Given the description of an element on the screen output the (x, y) to click on. 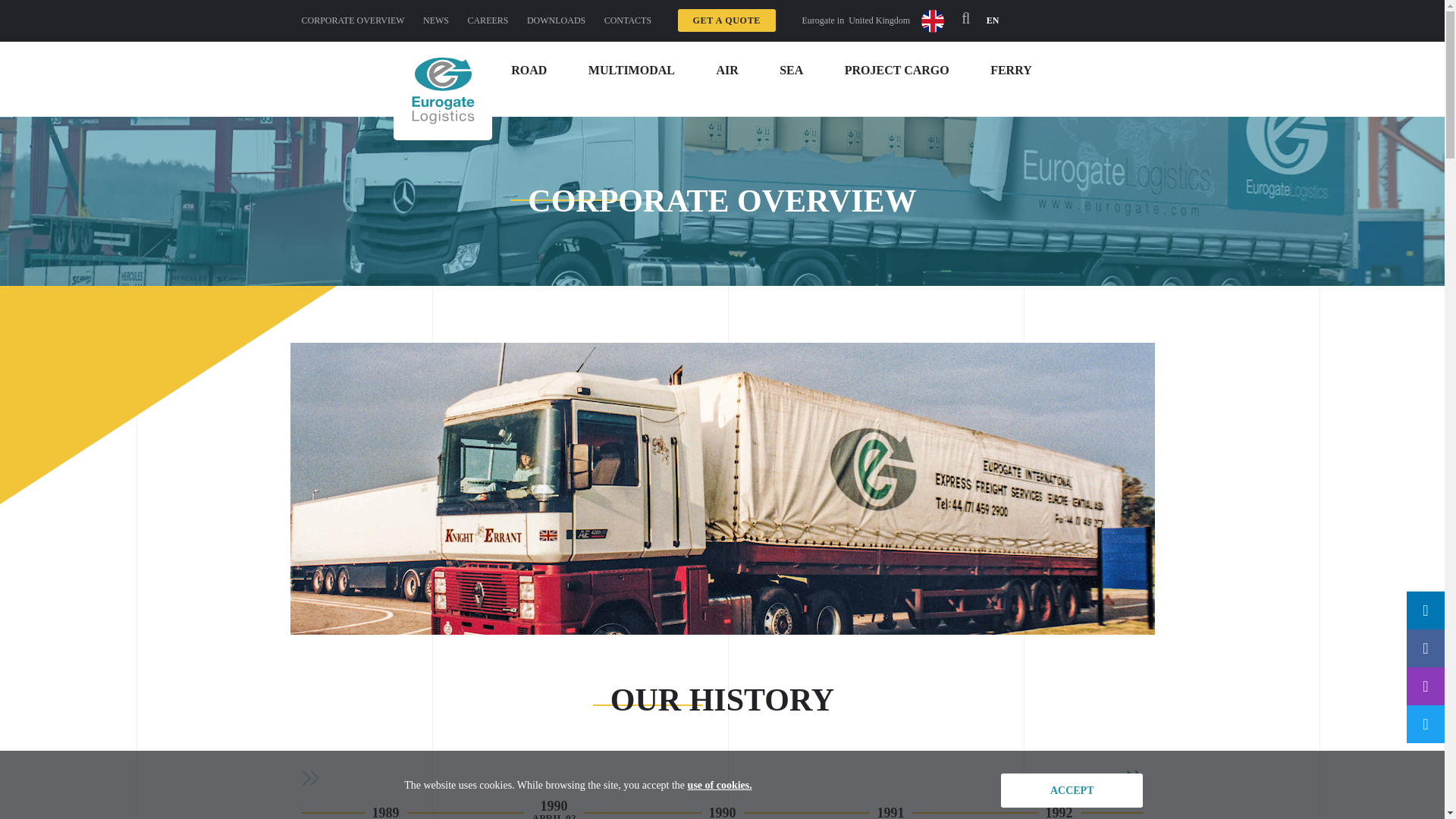
ROAD (529, 69)
CAREERS (487, 20)
PROJECT CARGO (896, 69)
DOWNLOADS (556, 20)
FERRY (1011, 69)
GET A QUOTE (727, 20)
CONTACTS (627, 20)
logo (443, 90)
CORPORATE OVERVIEW (352, 20)
MULTIMODAL (631, 69)
NEWS (435, 20)
AIR (727, 69)
SEA (791, 69)
